Given the description of an element on the screen output the (x, y) to click on. 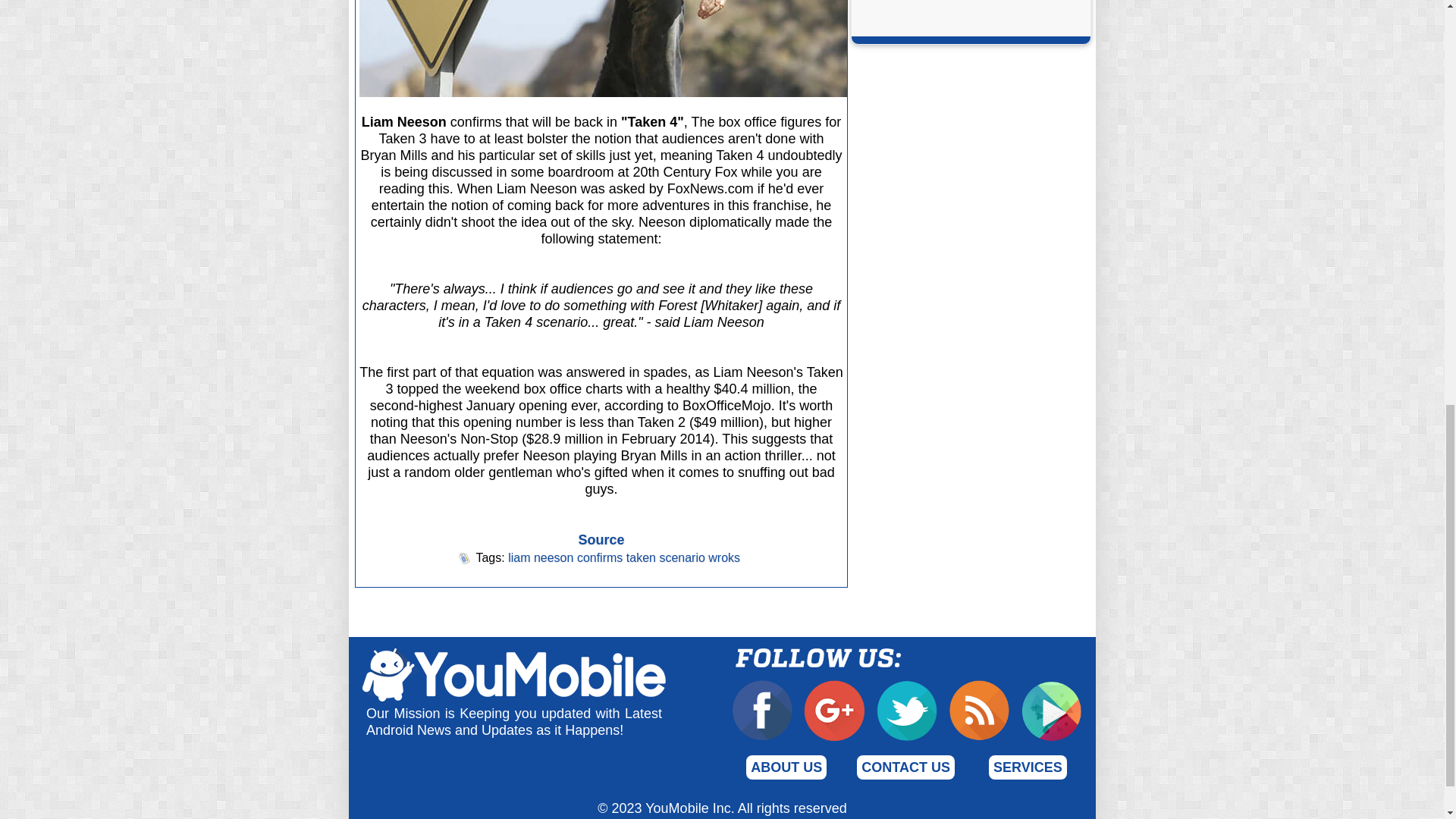
taken 4 (738, 48)
